Given the description of an element on the screen output the (x, y) to click on. 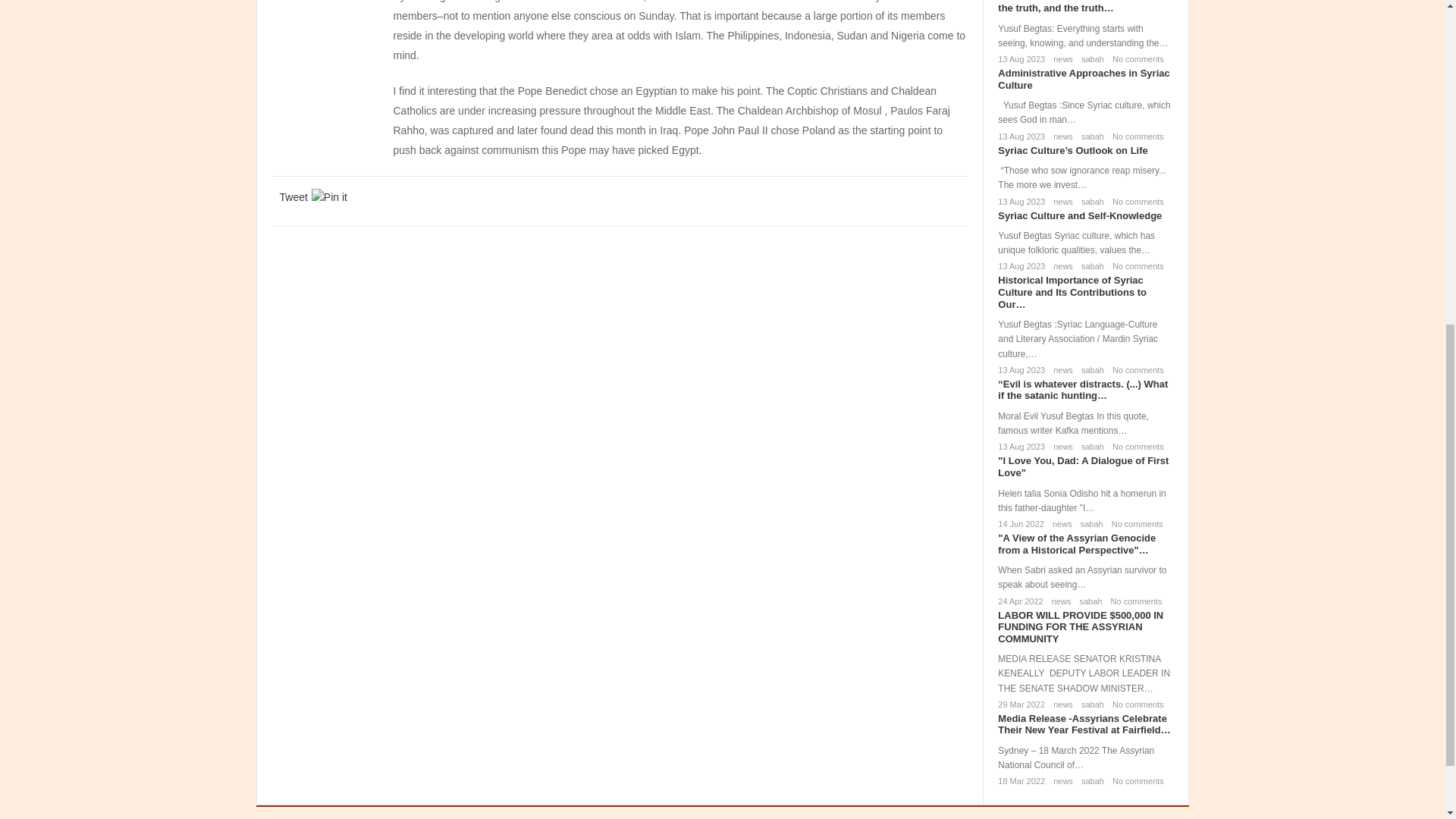
Pin it (329, 197)
Tweet (293, 197)
Administrative Approaches in Syriac Culture (1083, 78)
